Given the description of an element on the screen output the (x, y) to click on. 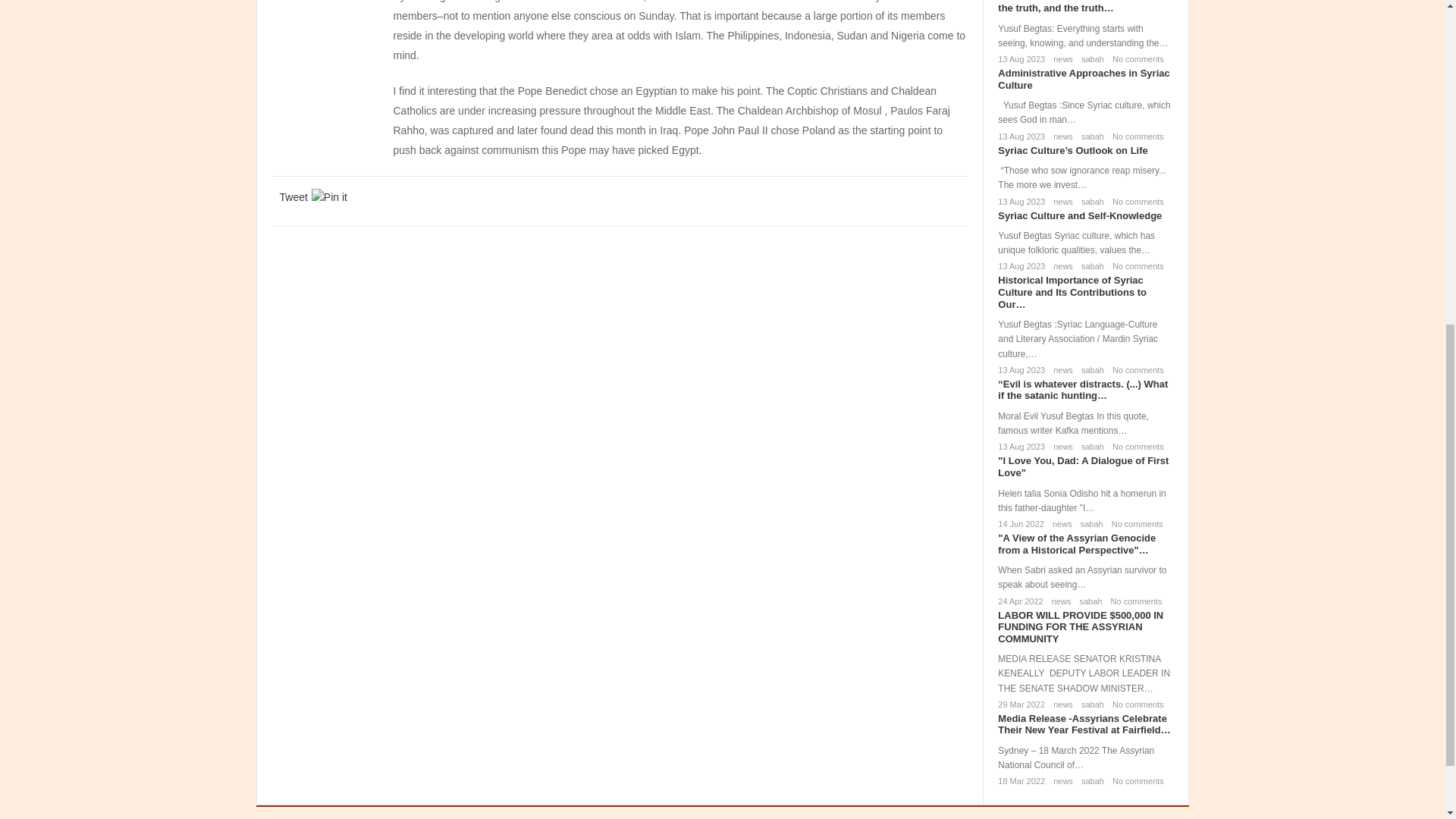
Pin it (329, 197)
Tweet (293, 197)
Administrative Approaches in Syriac Culture (1083, 78)
